Given the description of an element on the screen output the (x, y) to click on. 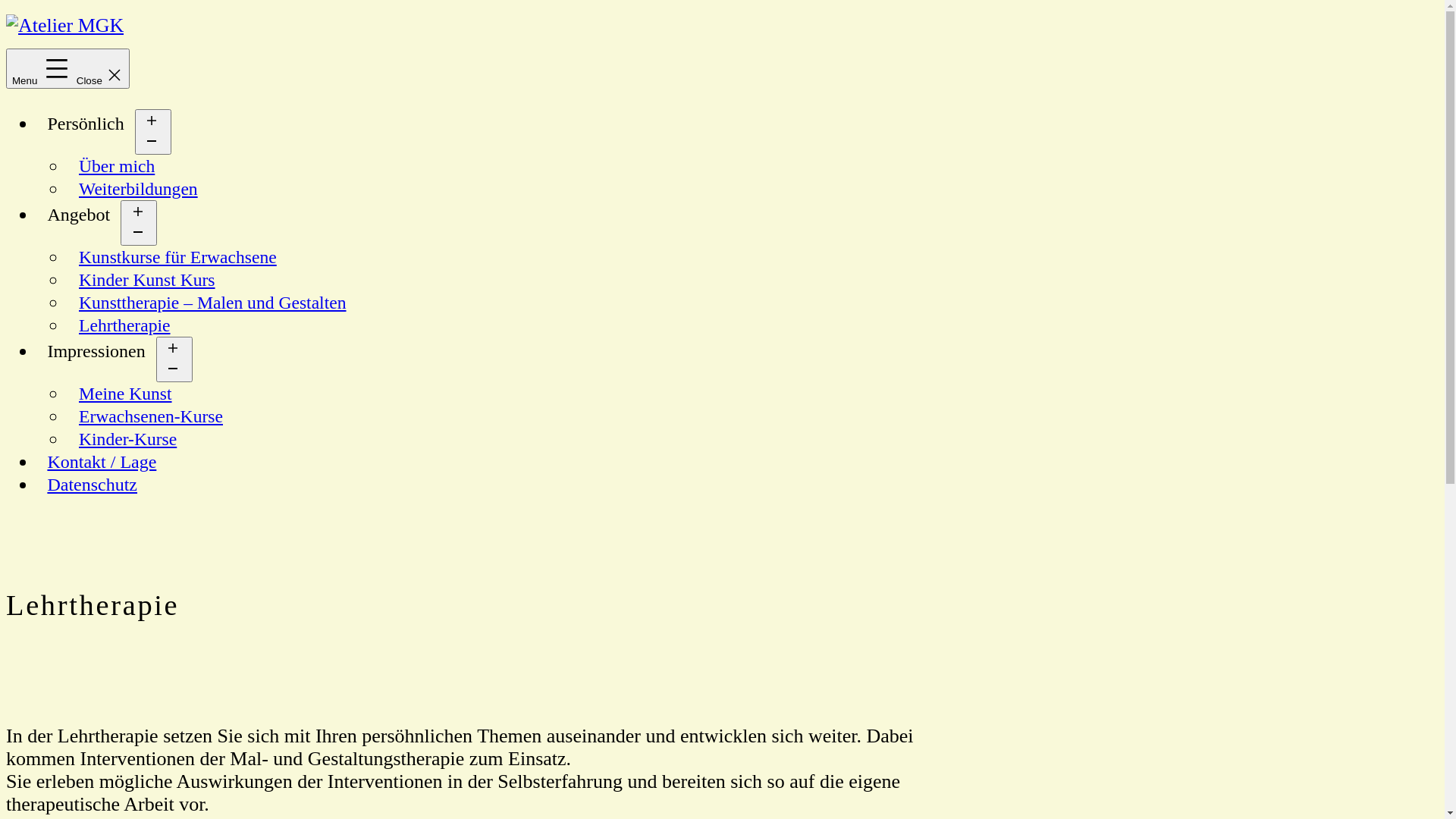
Menu Close Element type: text (67, 68)
Angebot Element type: text (78, 214)
Datenschutz Element type: text (91, 484)
Open menu Element type: text (152, 131)
Impressionen Element type: text (96, 350)
Atelier MGK Element type: text (32, 58)
Skip to content Element type: text (5, 5)
Weiterbildungen Element type: text (138, 188)
Lehrtherapie Element type: text (124, 325)
Kontakt / Lage Element type: text (101, 461)
Open menu Element type: text (138, 222)
Open menu Element type: text (174, 359)
Kinder Kunst Kurs Element type: text (146, 279)
Meine Kunst Element type: text (125, 393)
Kinder-Kurse Element type: text (127, 439)
Erwachsenen-Kurse Element type: text (150, 416)
